Given the description of an element on the screen output the (x, y) to click on. 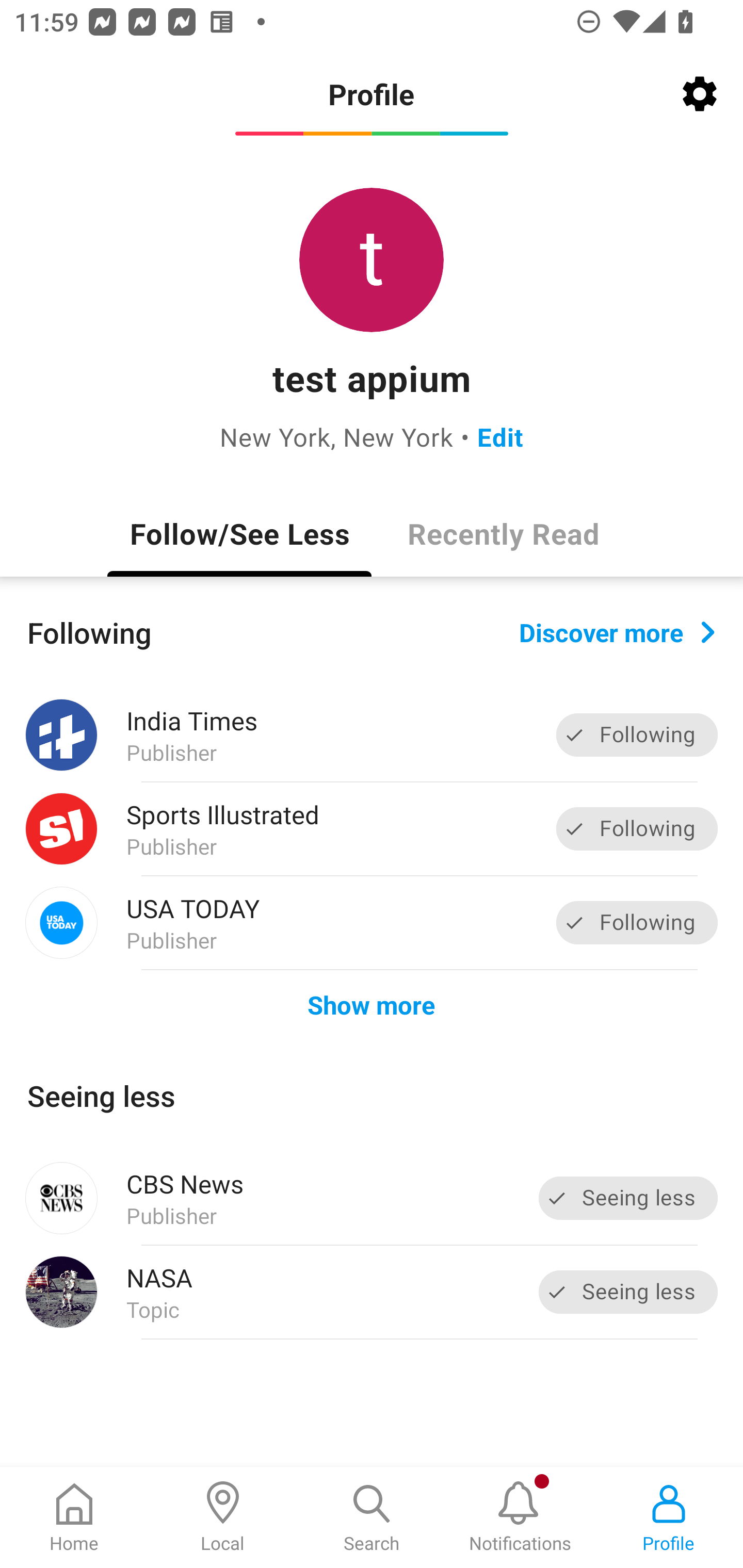
Settings (699, 93)
Edit (500, 436)
Recently Read (503, 533)
Discover more (617, 631)
India Times Publisher Following (371, 735)
Following (636, 735)
Sports Illustrated Publisher Following (371, 829)
Following (636, 828)
USA TODAY Publisher Following (371, 922)
Following (636, 922)
Show more (371, 1004)
CBS News Publisher Seeing less (371, 1197)
Seeing less (627, 1197)
NASA Topic Seeing less (371, 1291)
Seeing less (627, 1291)
Home (74, 1517)
Local (222, 1517)
Search (371, 1517)
Notifications, New notification Notifications (519, 1517)
